Given the description of an element on the screen output the (x, y) to click on. 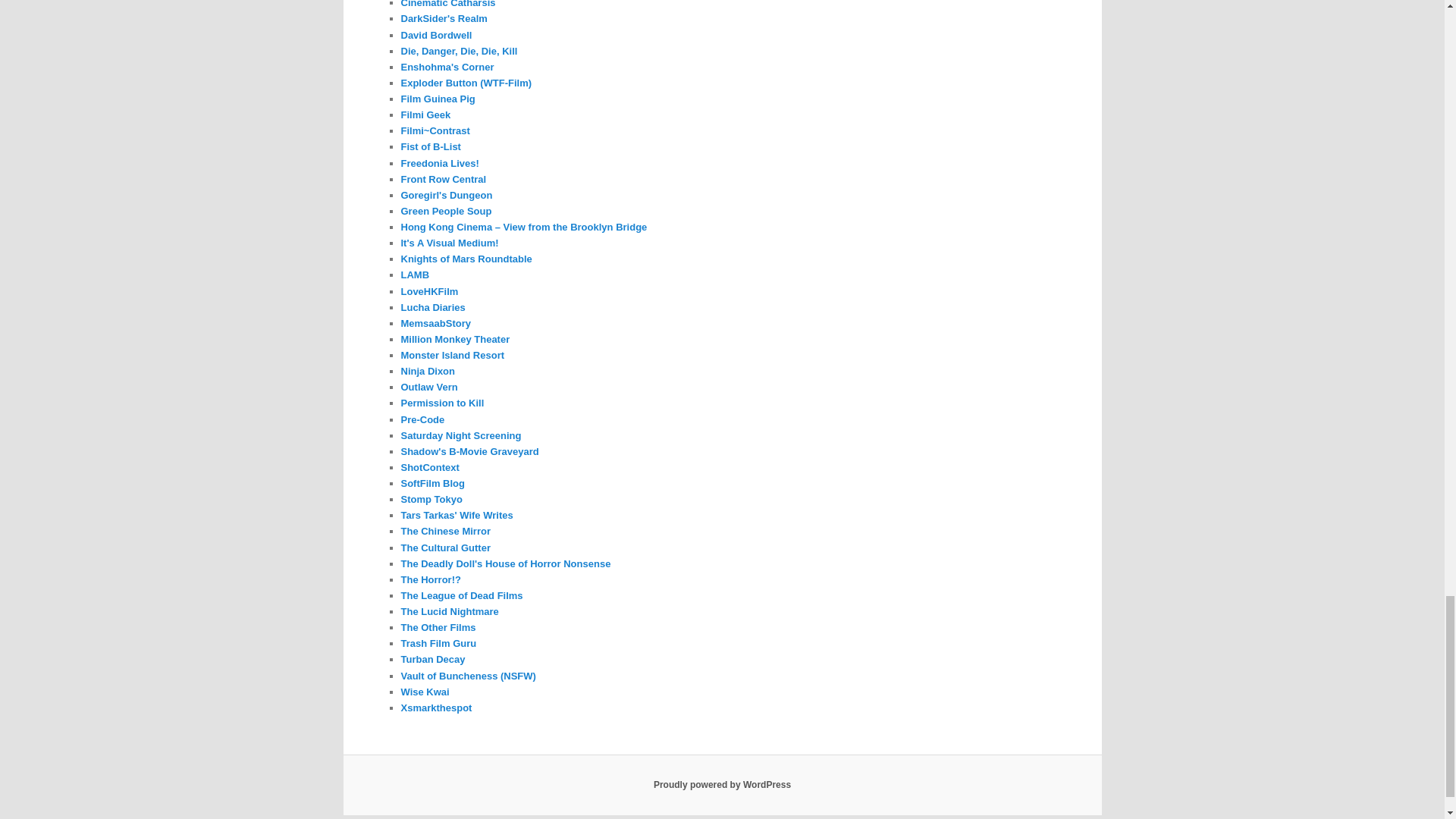
Enshohma's Corner (446, 66)
Semantic Personal Publishing Platform (721, 784)
David Bordwell (435, 34)
DarkSider's Realm (443, 18)
Die, Danger, Die, Die, Kill (458, 50)
Filmi Geek (424, 114)
Cinematic Catharsis (447, 4)
Film Guinea Pig (437, 98)
